Given the description of an element on the screen output the (x, y) to click on. 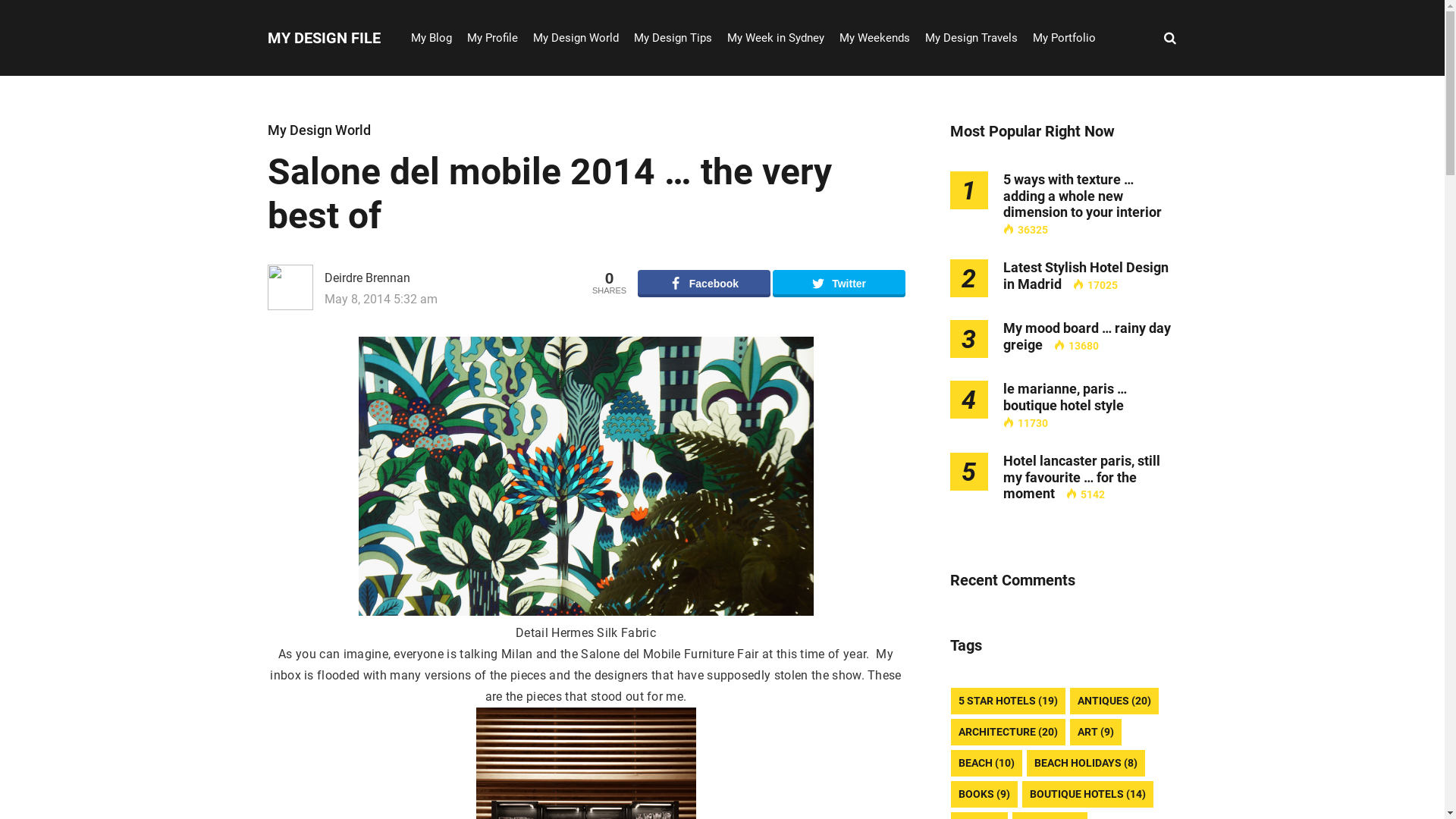
My Week in Sydney Element type: text (774, 37)
Facebook Element type: text (703, 283)
My Profile Element type: text (492, 37)
5 STAR HOTELS (19) Element type: text (1007, 700)
My Design World Element type: text (318, 130)
My Design Travels Element type: text (971, 37)
Twitter Element type: text (838, 283)
BOOKS (9) Element type: text (983, 794)
Latest Stylish Hotel Design in Madrid Element type: text (1084, 275)
BEACH (10) Element type: text (986, 762)
BOUTIQUE HOTELS (14) Element type: text (1087, 794)
ANTIQUES (20) Element type: text (1113, 700)
ARCHITECTURE (20) Element type: text (1007, 731)
BEACH HOLIDAYS (8) Element type: text (1085, 762)
My Weekends Element type: text (873, 37)
ART (9) Element type: text (1094, 731)
My Design Tips Element type: text (672, 37)
My Blog Element type: text (431, 37)
My Design World Element type: text (575, 37)
Deirdre Brennan Element type: text (422, 277)
MY DESIGN FILE Element type: text (322, 37)
My Portfolio Element type: text (1063, 37)
